Given the description of an element on the screen output the (x, y) to click on. 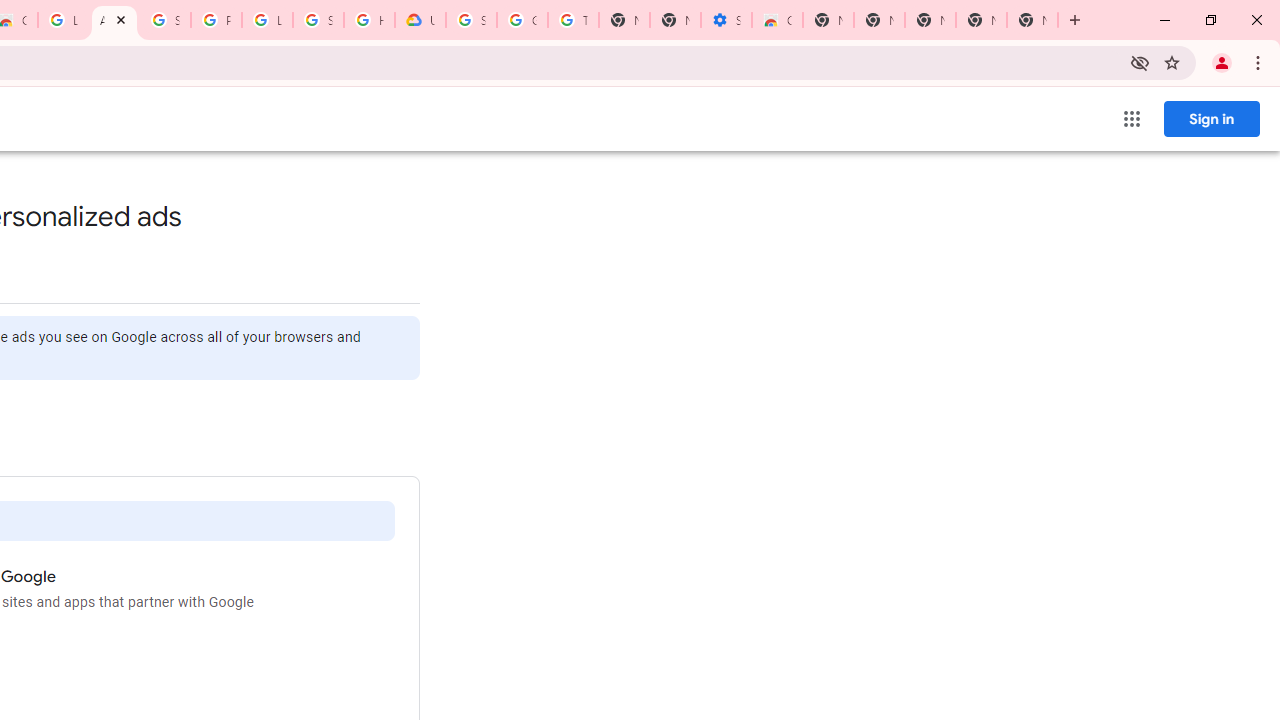
Turn cookies on or off - Computer - Google Account Help (573, 20)
Sign in (1211, 118)
Google apps (1132, 118)
New Tab (827, 20)
